Given the description of an element on the screen output the (x, y) to click on. 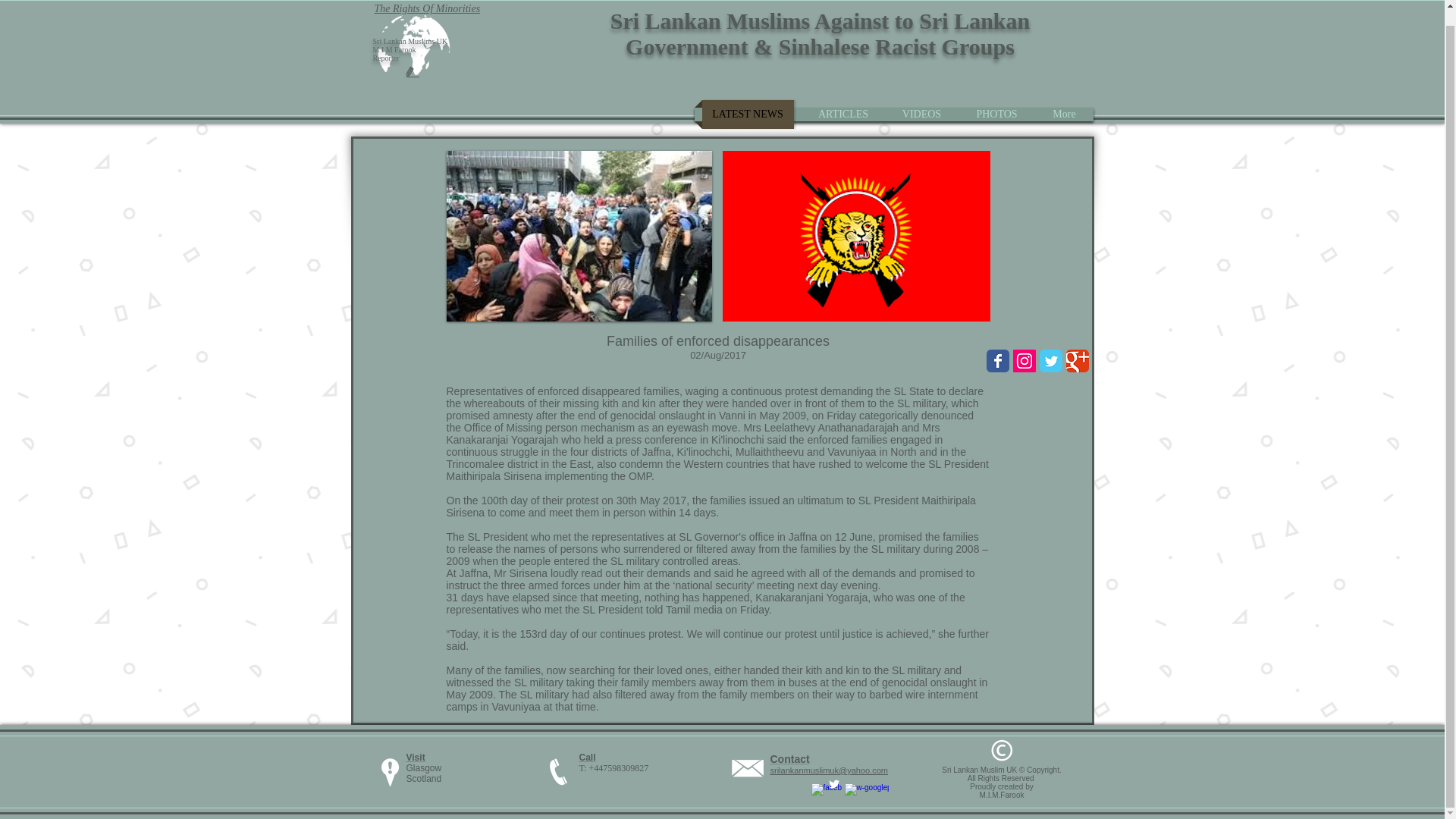
LATEST NEWS (748, 113)
download.jpg (578, 235)
